Given the description of an element on the screen output the (x, y) to click on. 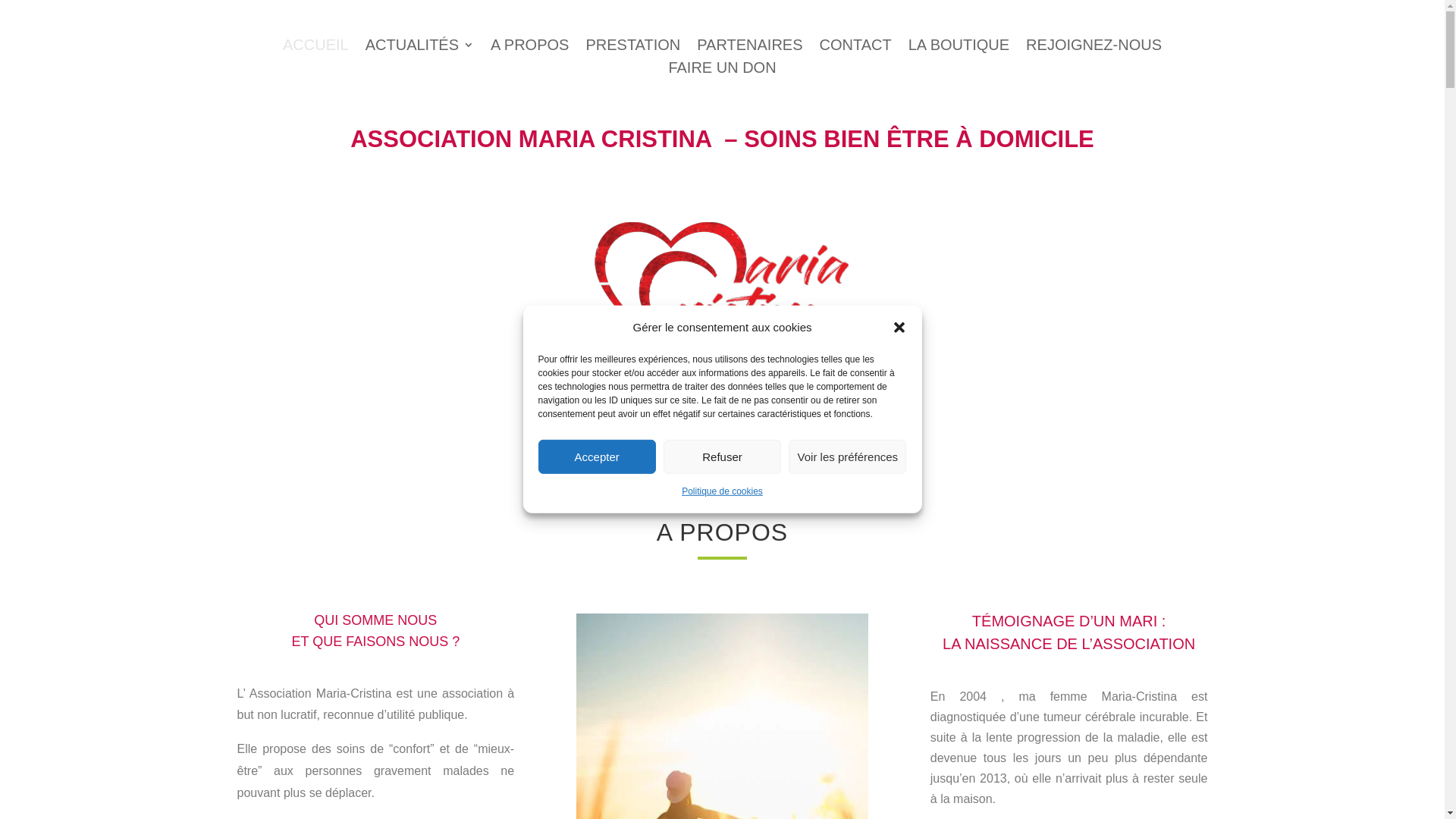
Accepter Element type: text (596, 456)
Politique de cookies Element type: text (721, 491)
PARTENAIRES Element type: text (749, 47)
PRESTATION Element type: text (632, 47)
CONTACT Element type: text (855, 47)
Refuser Element type: text (722, 456)
REJOIGNEZ-NOUS Element type: text (1093, 47)
ACCUEIL Element type: text (315, 47)
LA BOUTIQUE Element type: text (958, 47)
Maria Cristina-Trans 339x300 Element type: hover (721, 301)
A PROPOS Element type: text (529, 47)
FAIRE UN DON Element type: text (721, 70)
Rapport annuel 2022 Element type: text (722, 467)
